Given the description of an element on the screen output the (x, y) to click on. 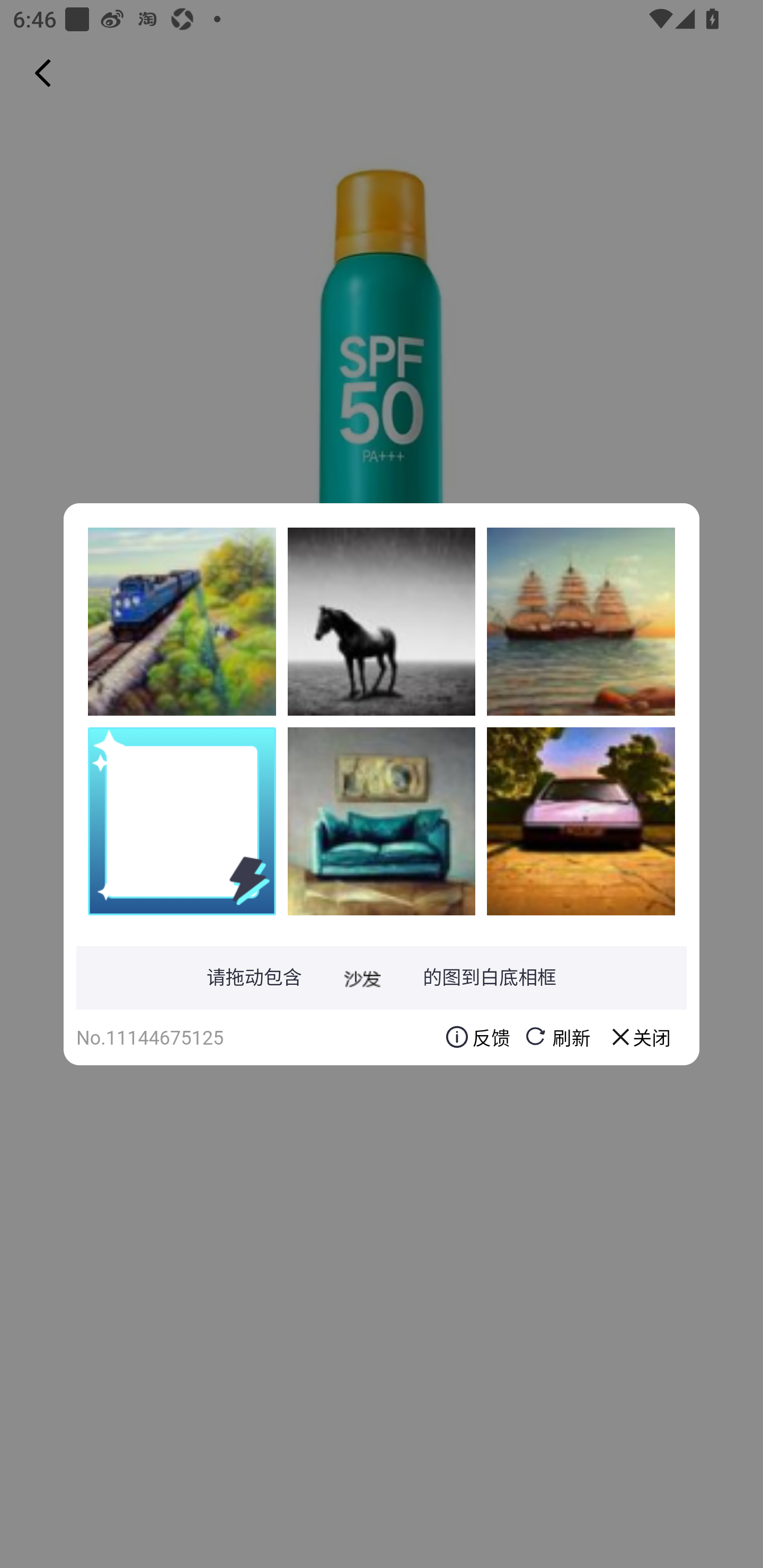
gCBkyzRRVnZcUck (181, 621)
UzX8LBLD8EY (381, 621)
cgDfoQBcEbUZPsiu7iCHRVSSBrr4Gmtxl9DUWozY (580, 621)
9mI1QstPEtjs1CDm+KRm+NQmJ0X+EyC73w (381, 820)
NHAjMmjMWrYUKgpyJJ1DggOcq (580, 820)
